Given the description of an element on the screen output the (x, y) to click on. 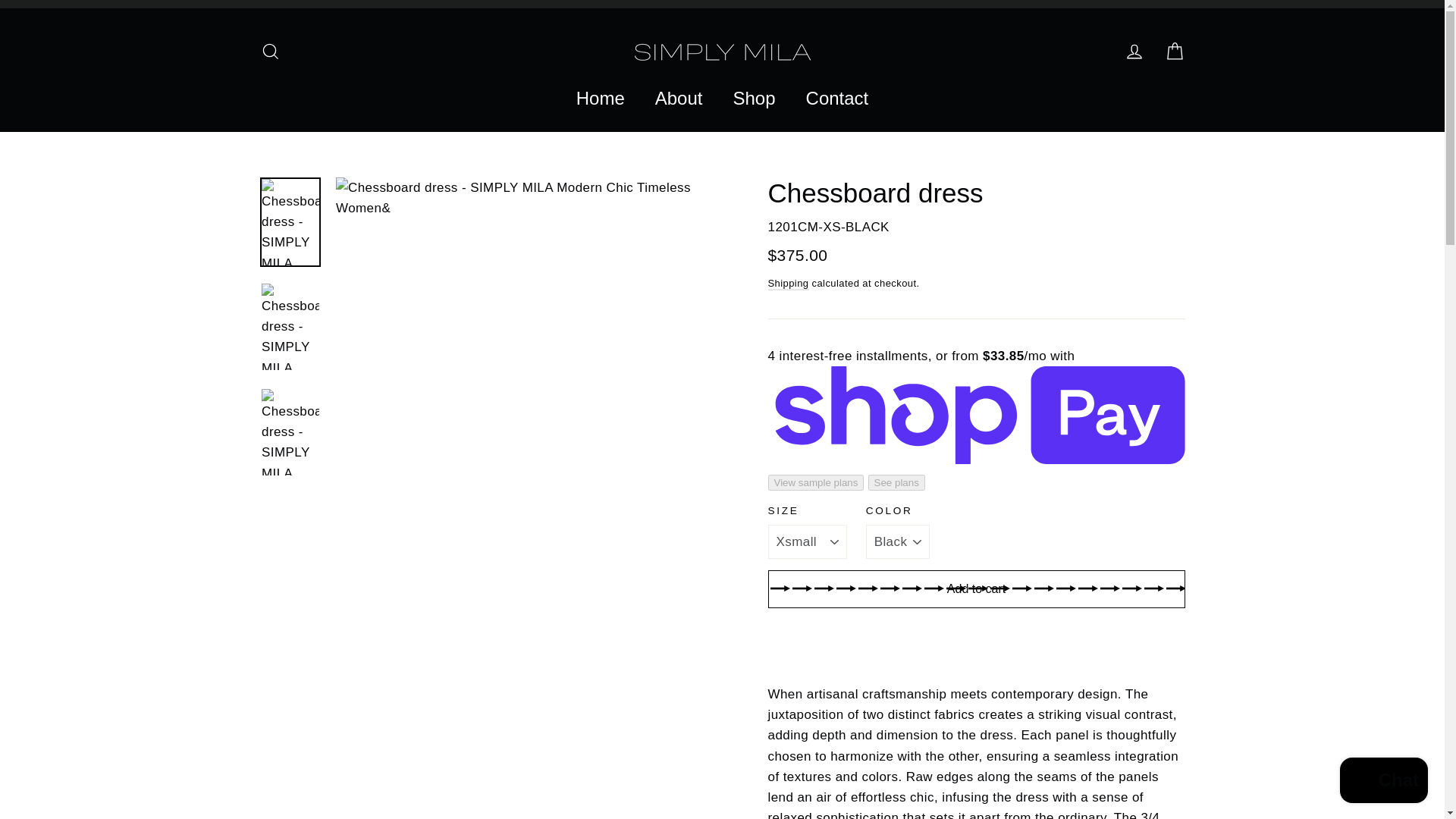
Shop (753, 98)
Shopify online store chat (1383, 781)
Home (600, 98)
Add to cart (976, 589)
Shipping (787, 283)
Log in (1134, 51)
Contact (836, 98)
Search (269, 51)
About (678, 98)
Cart (1173, 51)
